Given the description of an element on the screen output the (x, y) to click on. 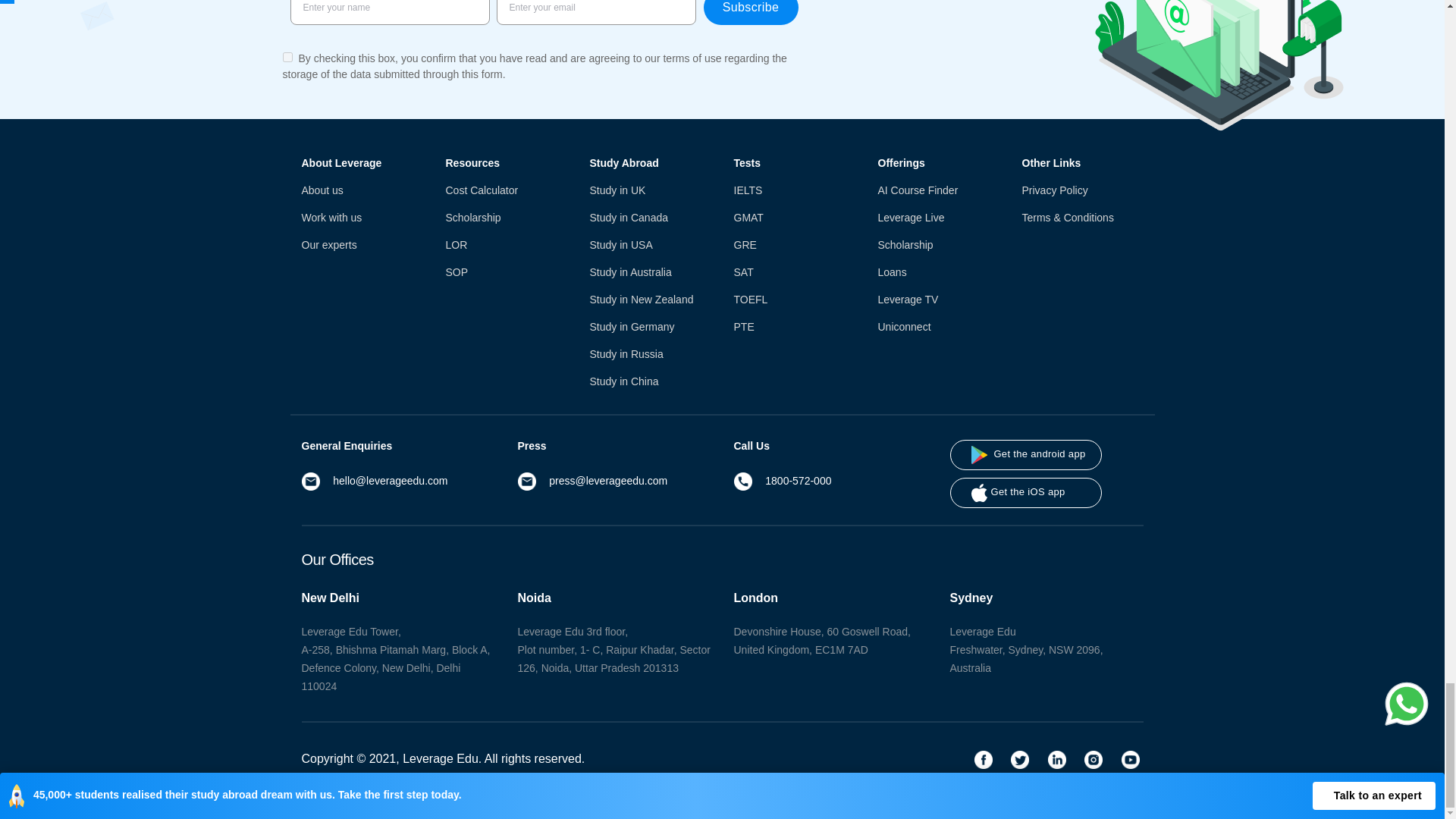
on (287, 57)
